Given the description of an element on the screen output the (x, y) to click on. 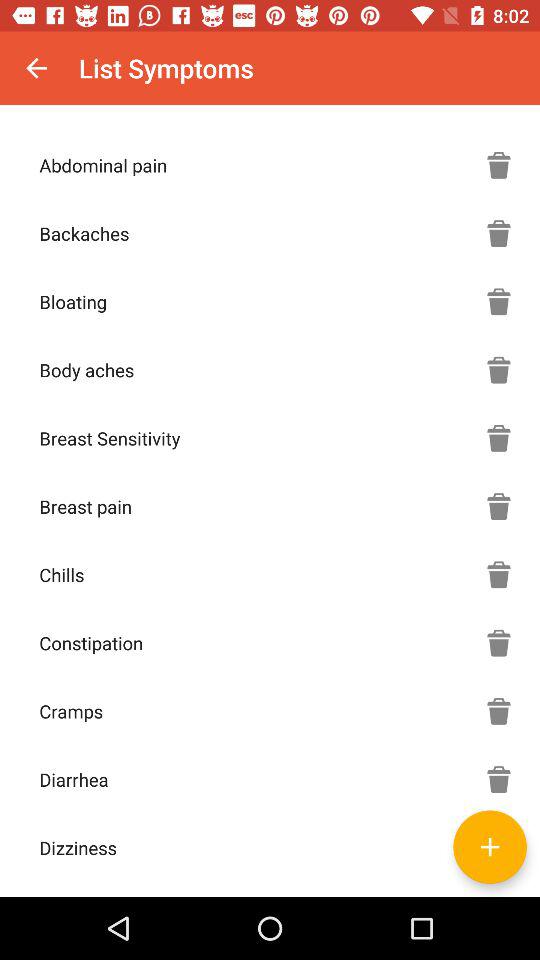
delete (499, 779)
